Given the description of an element on the screen output the (x, y) to click on. 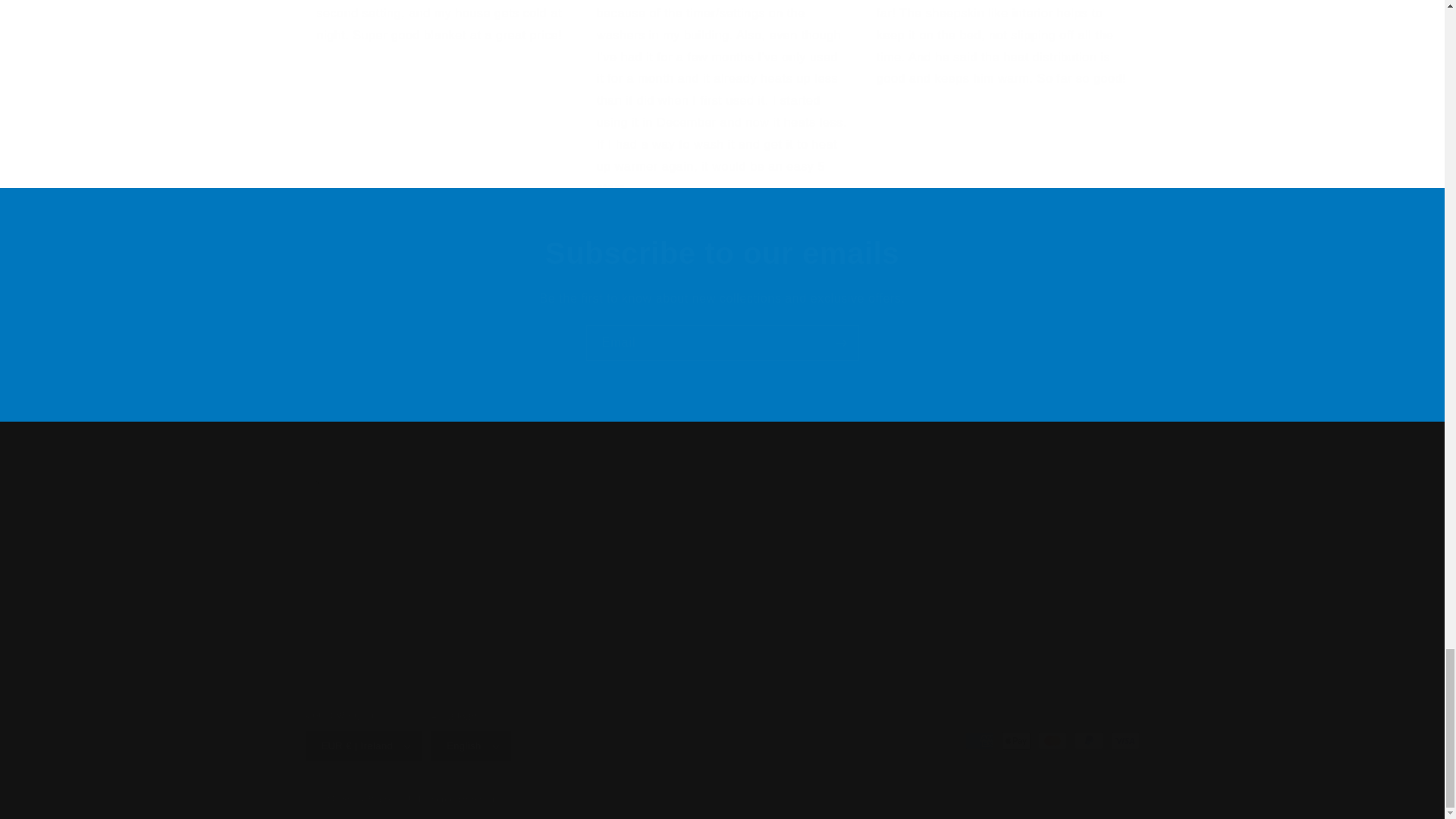
Subscribe to our emails (721, 252)
Email (722, 343)
